Given the description of an element on the screen output the (x, y) to click on. 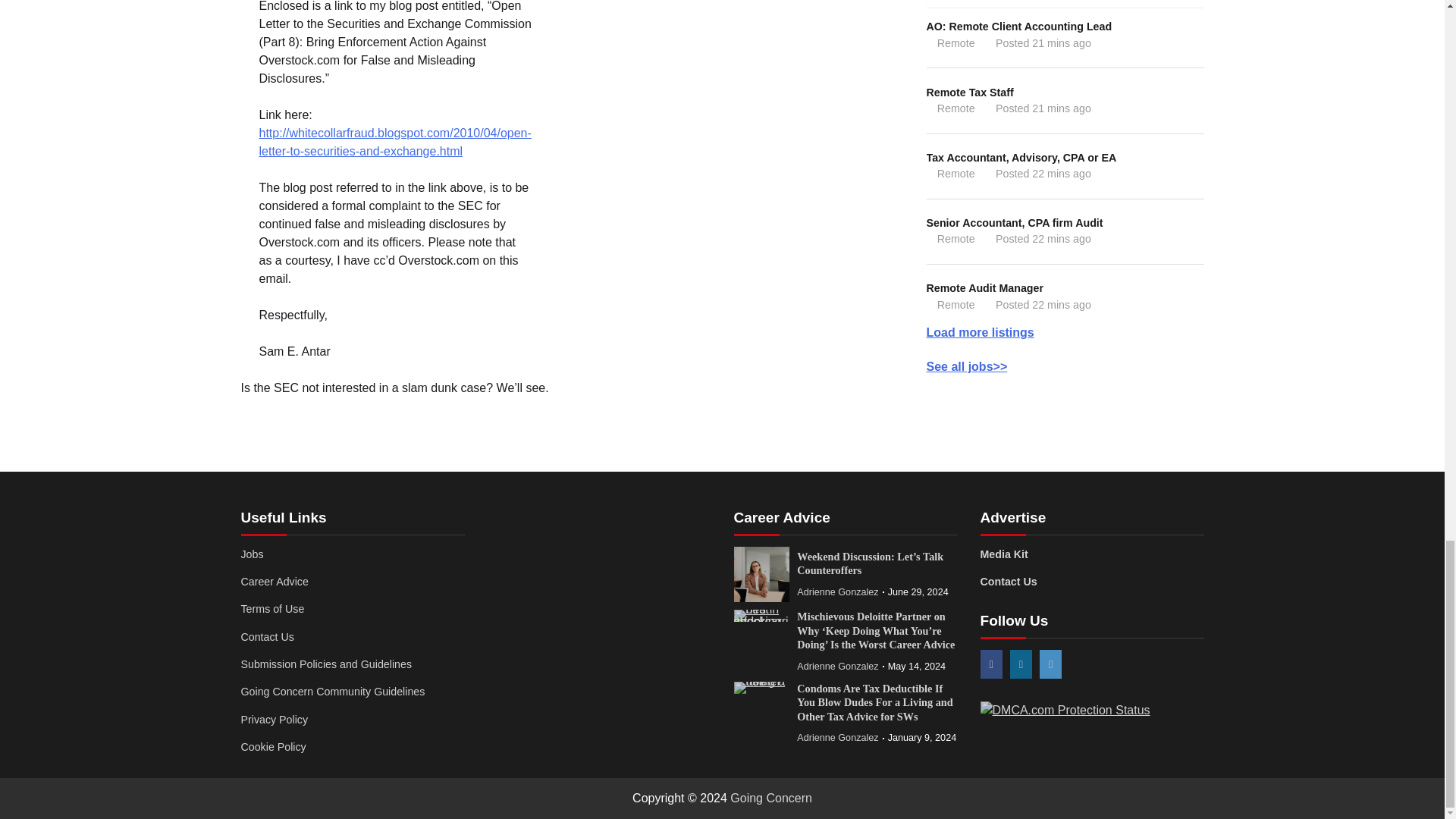
DMCA.com Protection Status (1064, 709)
